Given the description of an element on the screen output the (x, y) to click on. 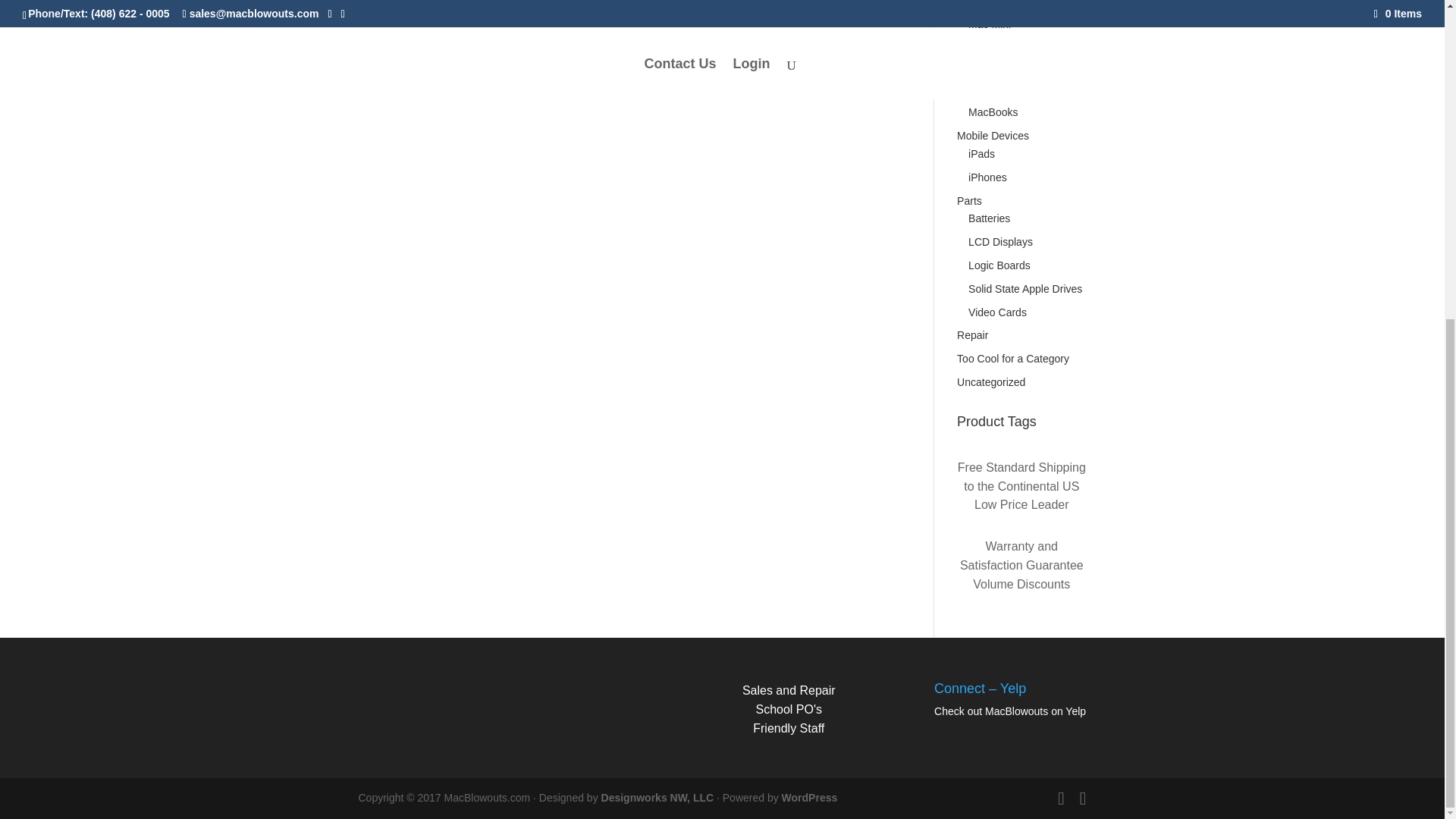
Batteries (989, 218)
Check out MacBlowouts on Yelp (1010, 711)
Uncategorized (990, 381)
iPhones (987, 177)
Apple Notebooks (997, 47)
Video Cards (997, 312)
iPads (981, 153)
LCD Displays (1000, 241)
Logic Boards (999, 265)
Mobile Devices (992, 135)
